Given the description of an element on the screen output the (x, y) to click on. 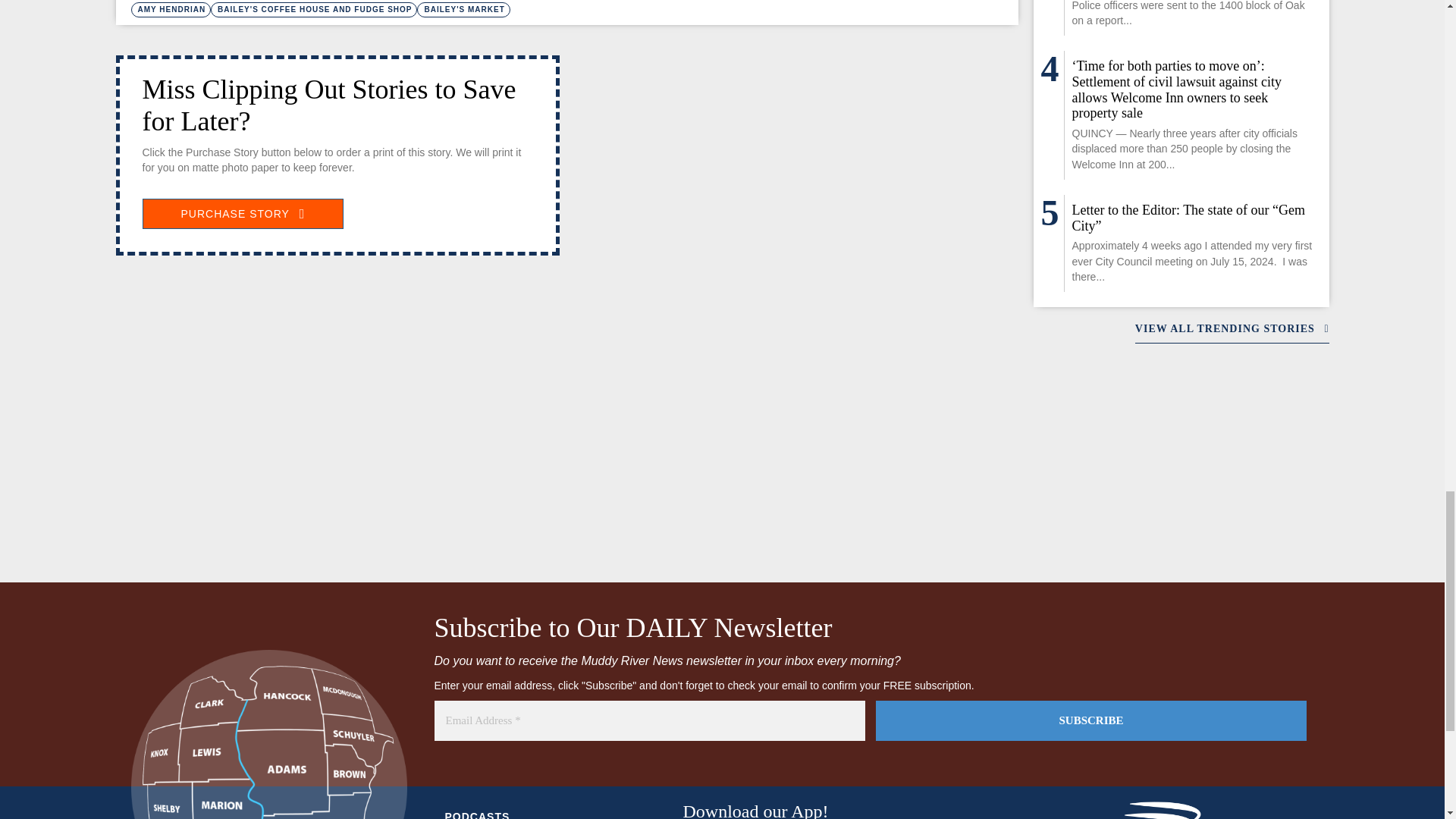
MRN-white (1174, 810)
Email Address (648, 721)
mrn-coverage-area-map-sphere (268, 734)
SUBSCRIBE (1091, 721)
